Given the description of an element on the screen output the (x, y) to click on. 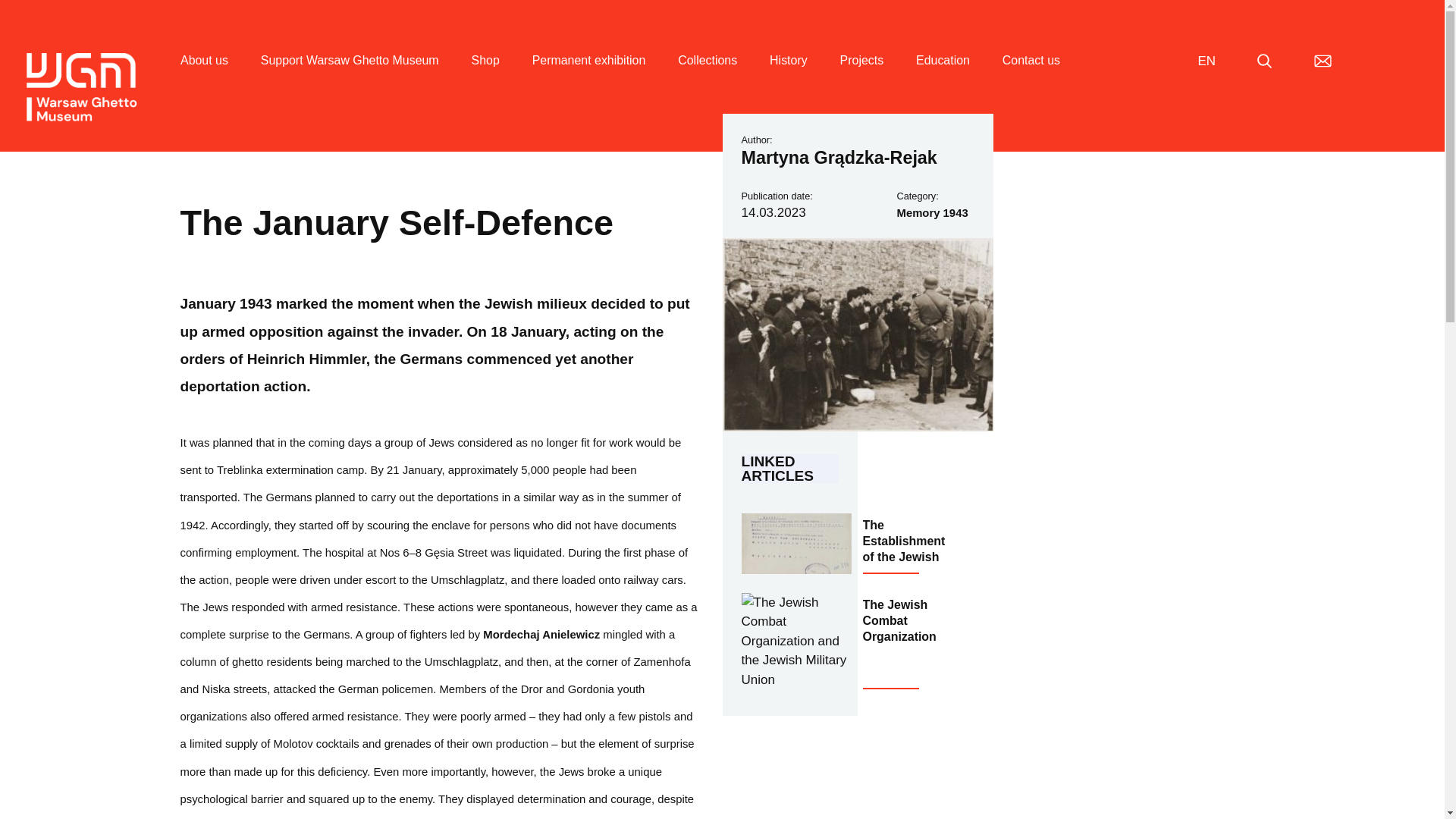
Support Warsaw Ghetto Museum (349, 78)
EN (1205, 60)
Permanent exhibition (589, 78)
Contact us (1031, 78)
Education (942, 78)
e-mail (1323, 60)
Collections (707, 78)
About us (204, 78)
